Given the description of an element on the screen output the (x, y) to click on. 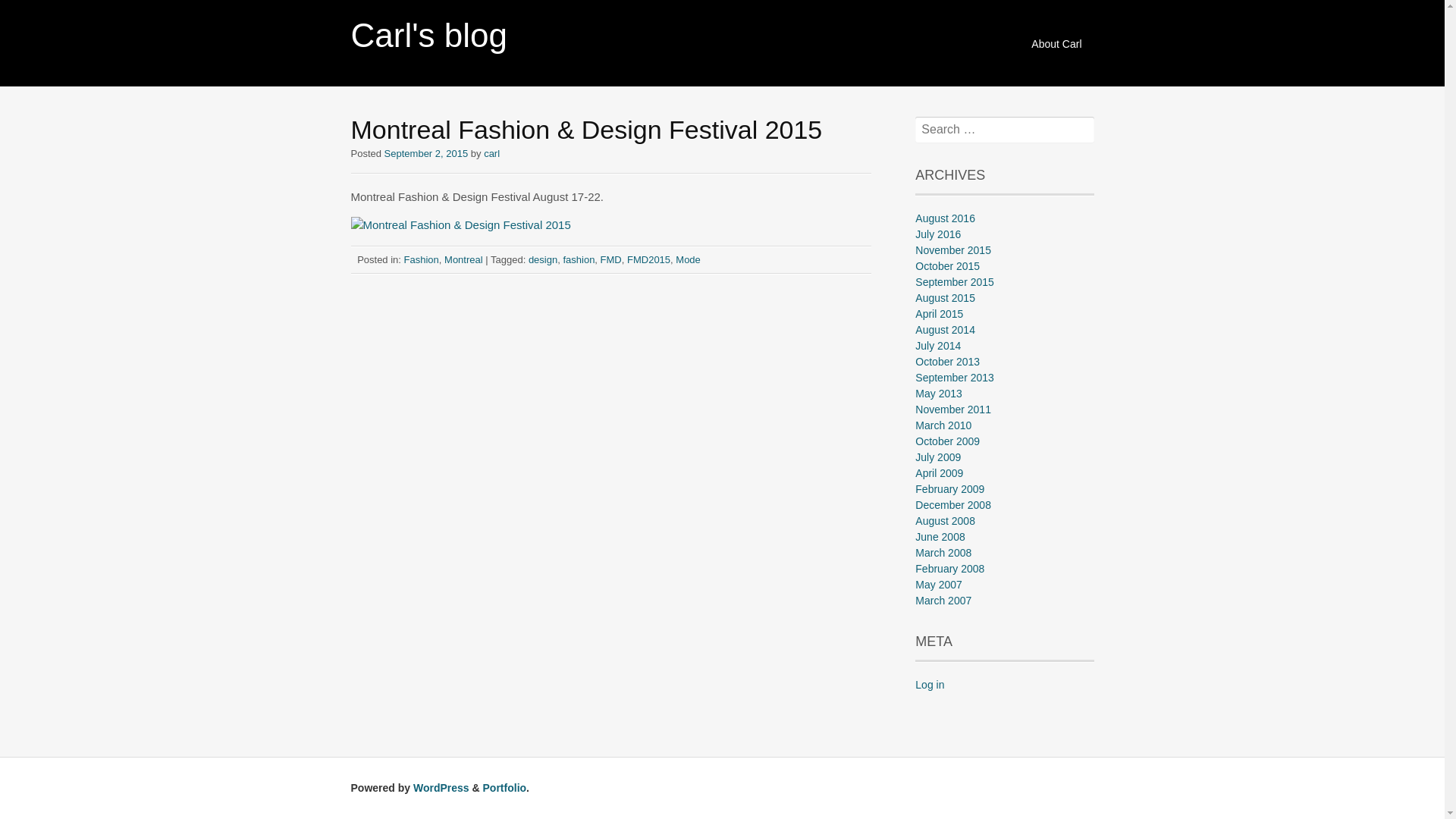
October 2009 Element type: text (947, 441)
August 2015 Element type: text (945, 297)
Montreal Element type: text (463, 258)
design Element type: text (542, 258)
Fashion Element type: text (421, 258)
August 2016 Element type: text (945, 218)
fashion Element type: text (578, 258)
August 2008 Element type: text (945, 520)
August 2014 Element type: text (945, 329)
November 2011 Element type: text (953, 409)
July 2009 Element type: text (937, 457)
March 2008 Element type: text (943, 552)
FMD2015 Element type: text (648, 258)
Carl's blog Element type: text (428, 34)
September 2, 2015 Element type: text (426, 153)
Mode Element type: text (687, 258)
September 2015 Element type: text (954, 282)
July 2014 Element type: text (937, 345)
October 2015 Element type: text (947, 266)
December 2008 Element type: text (953, 504)
September 2013 Element type: text (954, 377)
March 2007 Element type: text (943, 600)
May 2007 Element type: text (938, 584)
May 2013 Element type: text (938, 393)
Log in Element type: text (929, 684)
February 2009 Element type: text (949, 489)
Montreal Fashion & Design Festival 2015 Element type: hover (460, 224)
October 2013 Element type: text (947, 361)
FMD Element type: text (610, 258)
Search Element type: text (33, 12)
November 2015 Element type: text (953, 250)
June 2008 Element type: text (939, 536)
April 2015 Element type: text (939, 313)
Portfolio Element type: text (505, 787)
July 2016 Element type: text (937, 234)
Skip to content Element type: text (1031, 36)
February 2008 Element type: text (949, 568)
April 2009 Element type: text (939, 473)
WordPress Element type: text (441, 787)
About Carl Element type: text (1056, 44)
carl Element type: text (491, 153)
March 2010 Element type: text (943, 425)
